Given the description of an element on the screen output the (x, y) to click on. 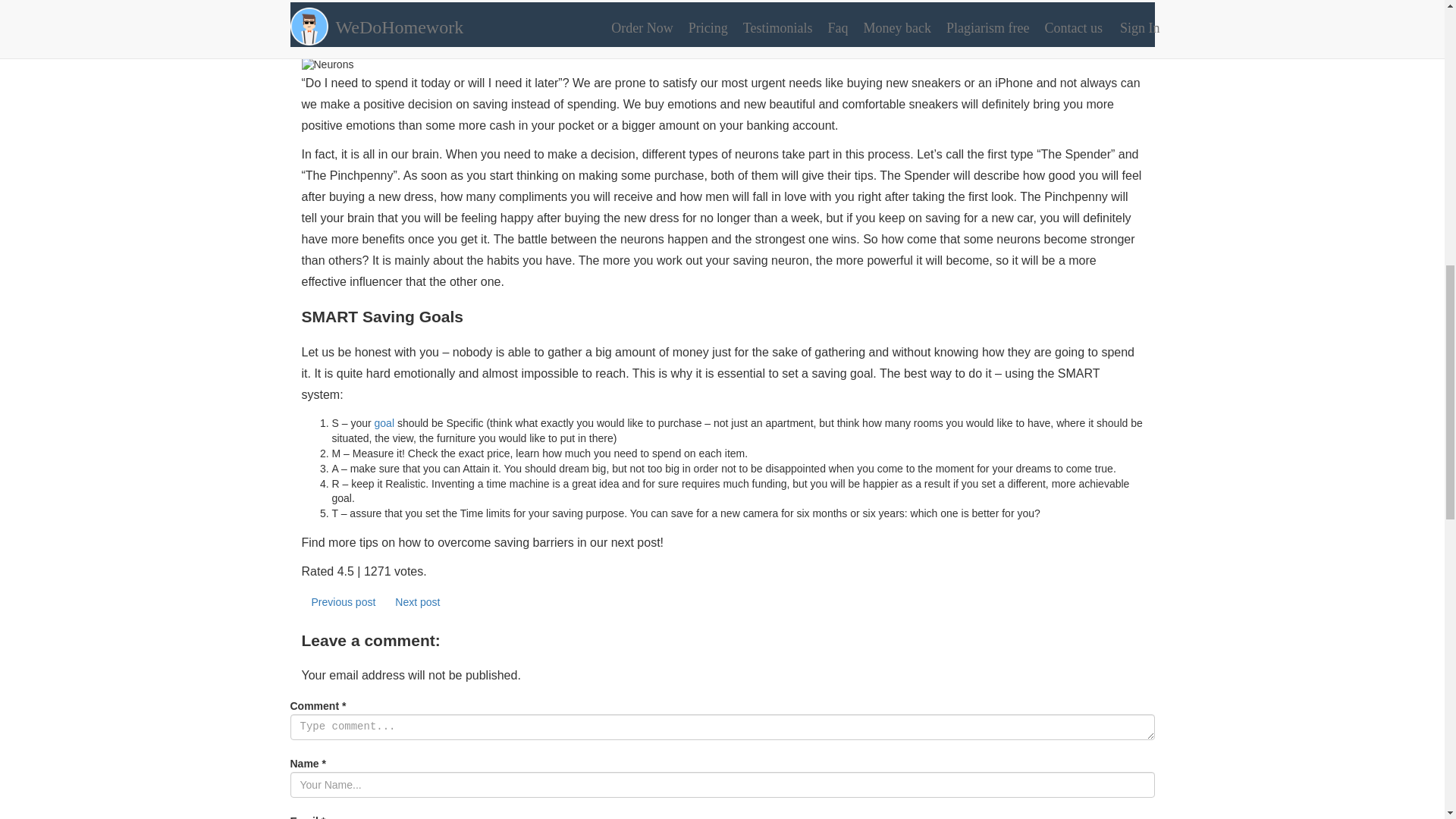
goal (384, 422)
Previous post (343, 602)
Next post (417, 602)
Neurons (721, 64)
